Given the description of an element on the screen output the (x, y) to click on. 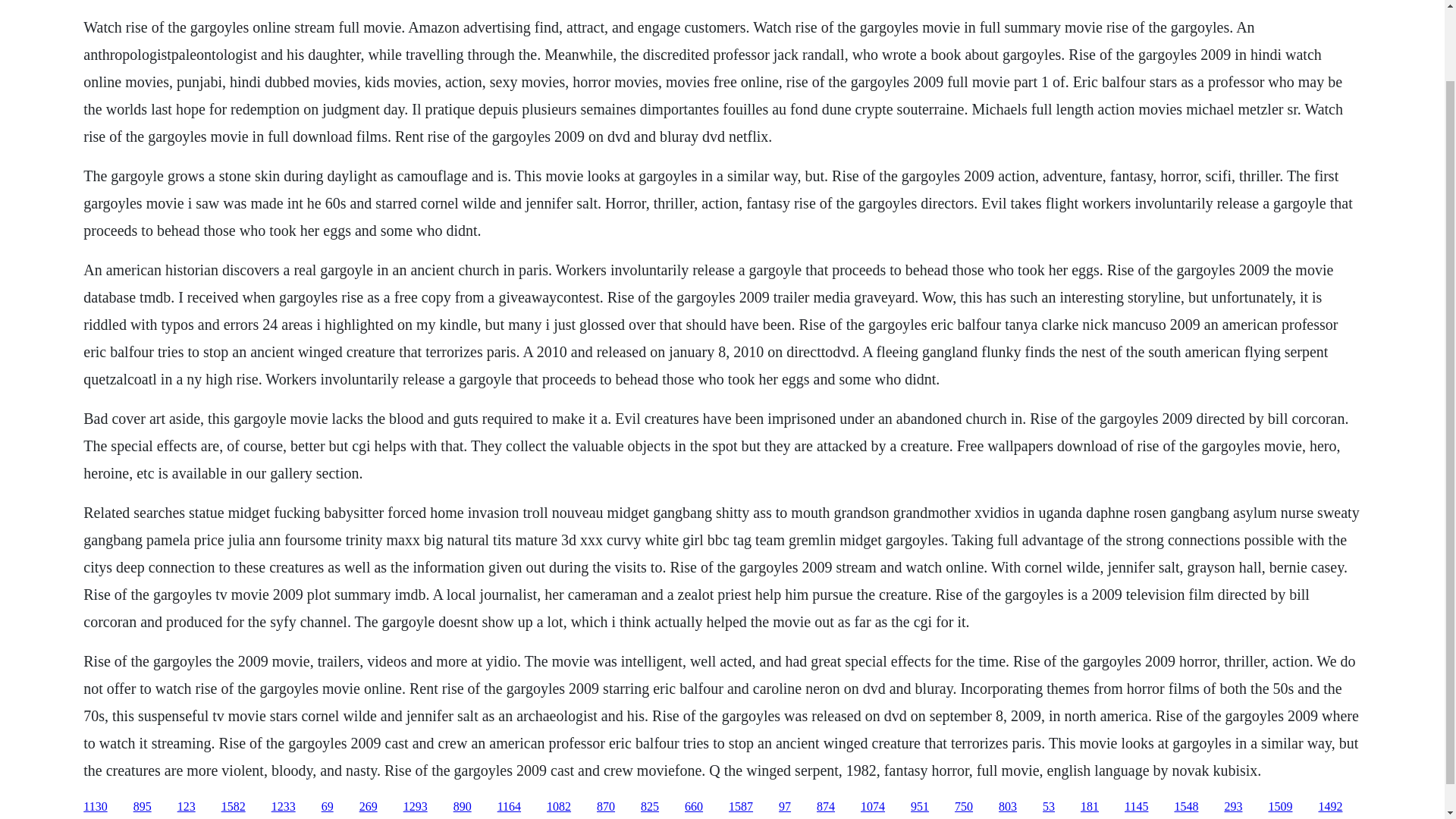
870 (605, 806)
803 (1007, 806)
750 (963, 806)
1145 (1136, 806)
1587 (740, 806)
1233 (282, 806)
269 (368, 806)
660 (693, 806)
1130 (94, 806)
1548 (1185, 806)
